Given the description of an element on the screen output the (x, y) to click on. 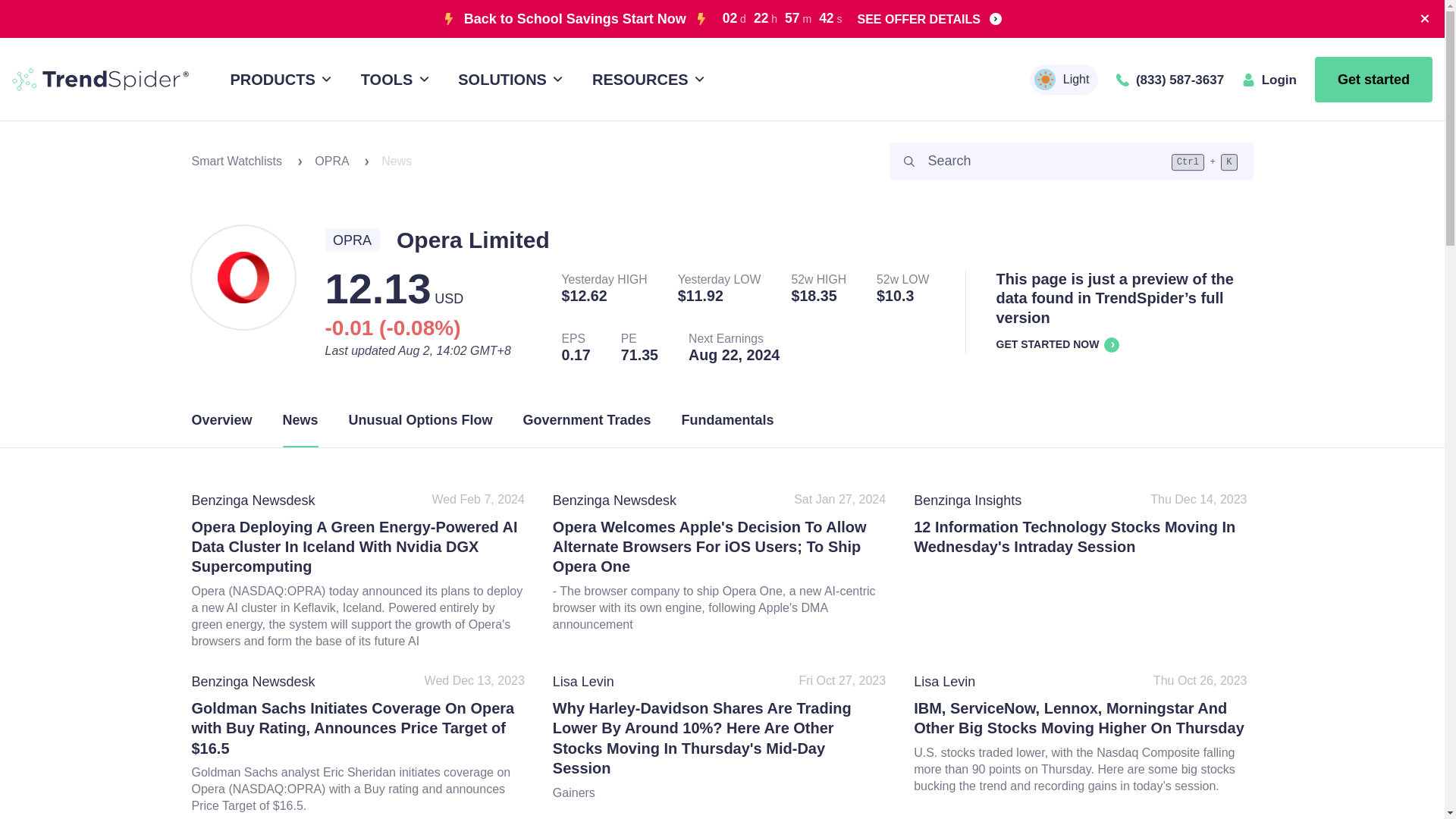
SOLUTIONS (508, 79)
Get started (1373, 79)
TOOLS (392, 79)
RESOURCES (645, 79)
PRODUCTS (277, 79)
on (1039, 73)
TrendSpider (100, 78)
SEE OFFER DETAILS (929, 18)
Back to School Savings Start Now (574, 18)
